Given the description of an element on the screen output the (x, y) to click on. 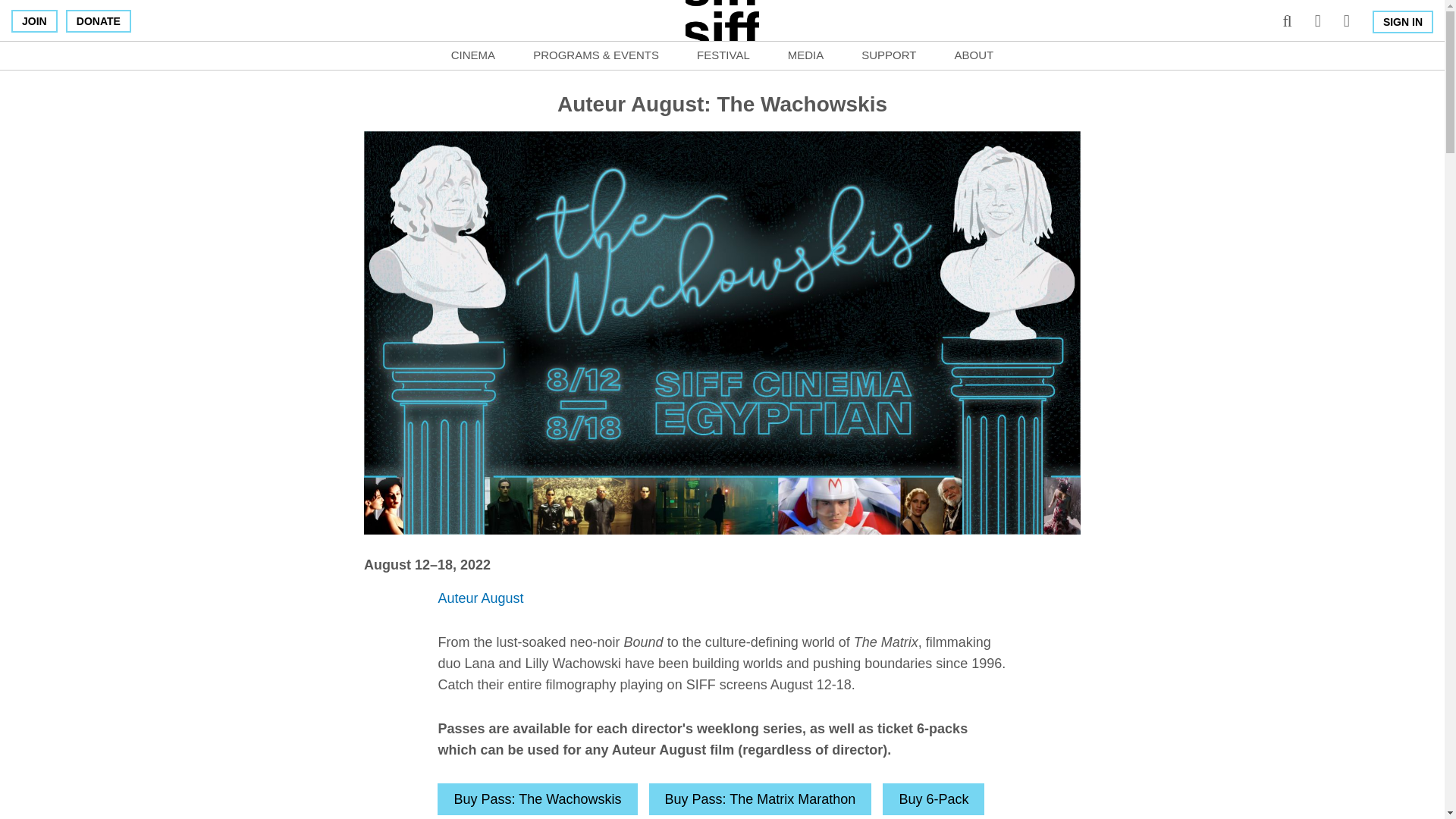
SIGN IN (1402, 21)
Pass (537, 798)
Pass (760, 798)
JOIN (34, 20)
DONATE (98, 20)
6-Pack (933, 798)
